Given the description of an element on the screen output the (x, y) to click on. 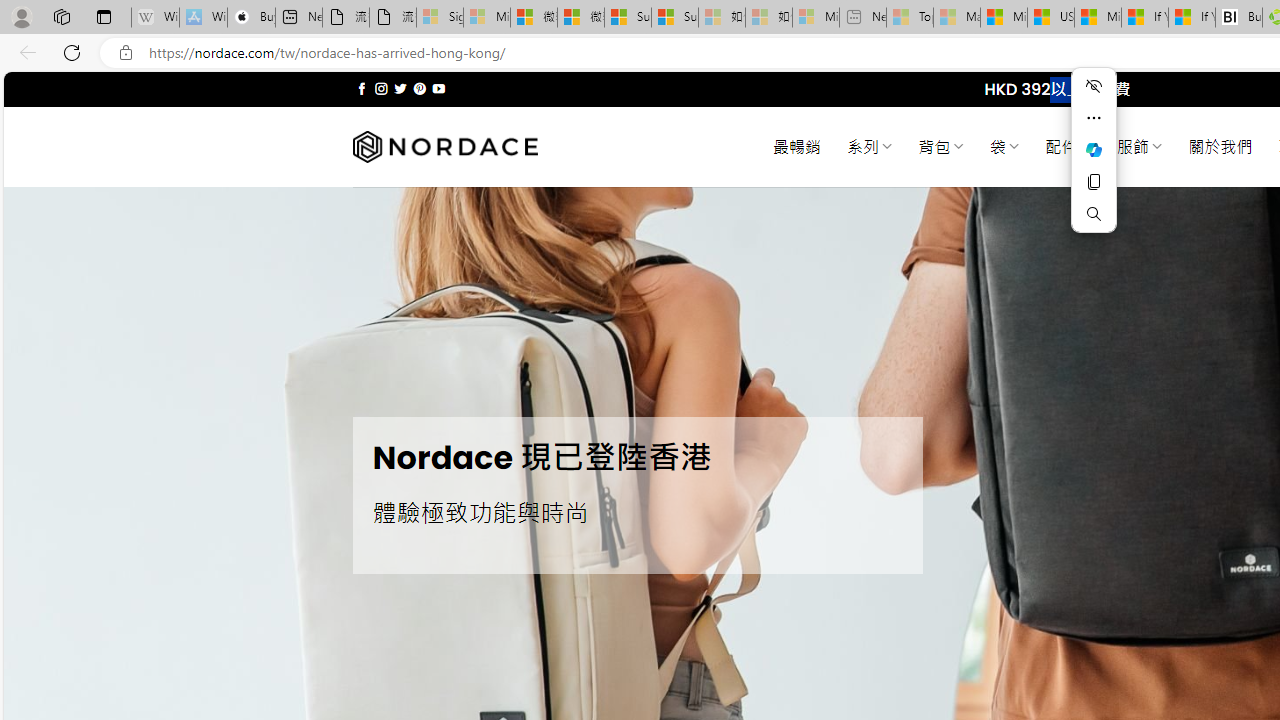
Follow on Facebook (361, 88)
Hide menu (1094, 85)
Mini menu on text selection (1094, 149)
